Given the description of an element on the screen output the (x, y) to click on. 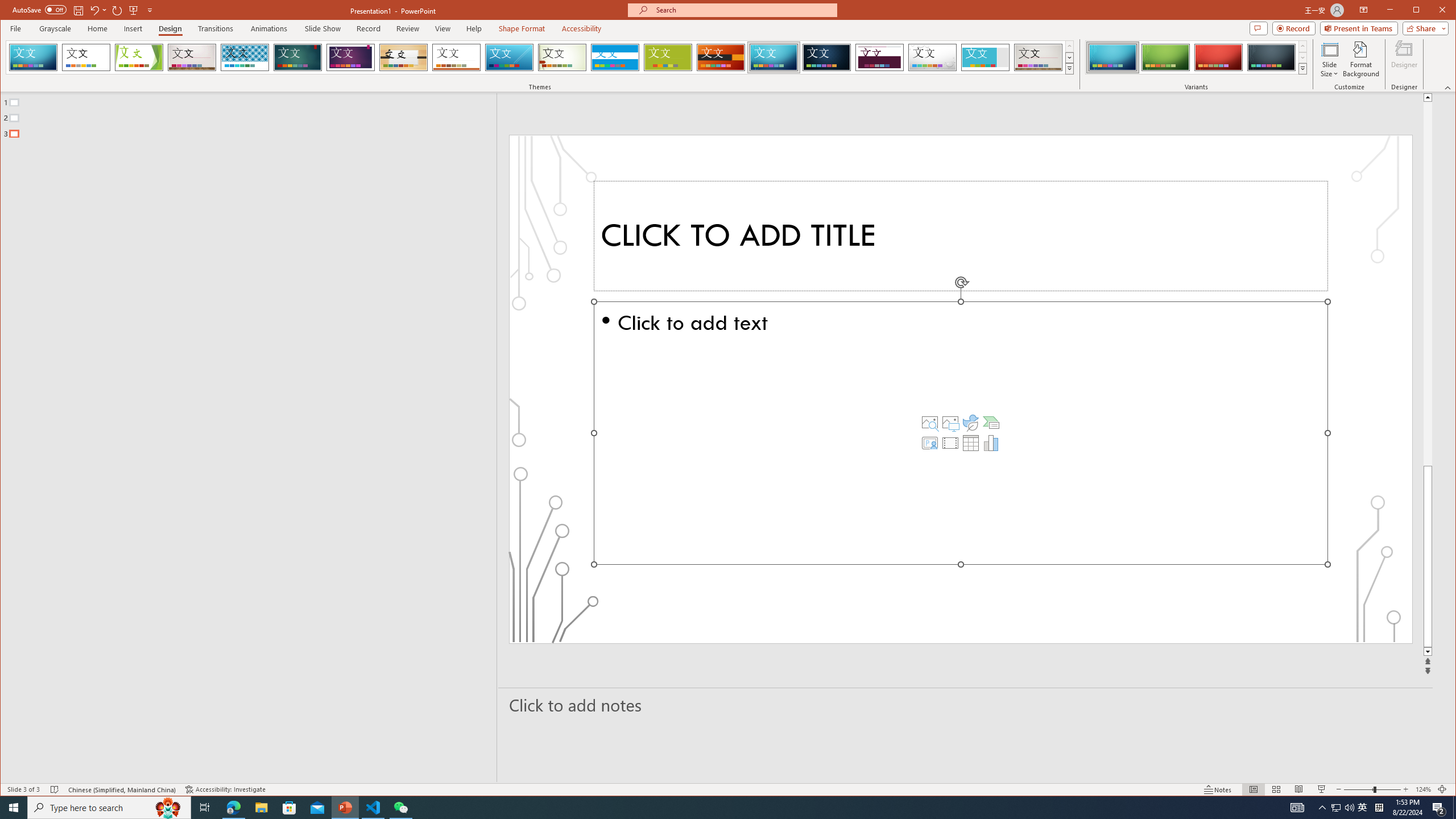
Circuit Variant 1 (1112, 57)
